Given the description of an element on the screen output the (x, y) to click on. 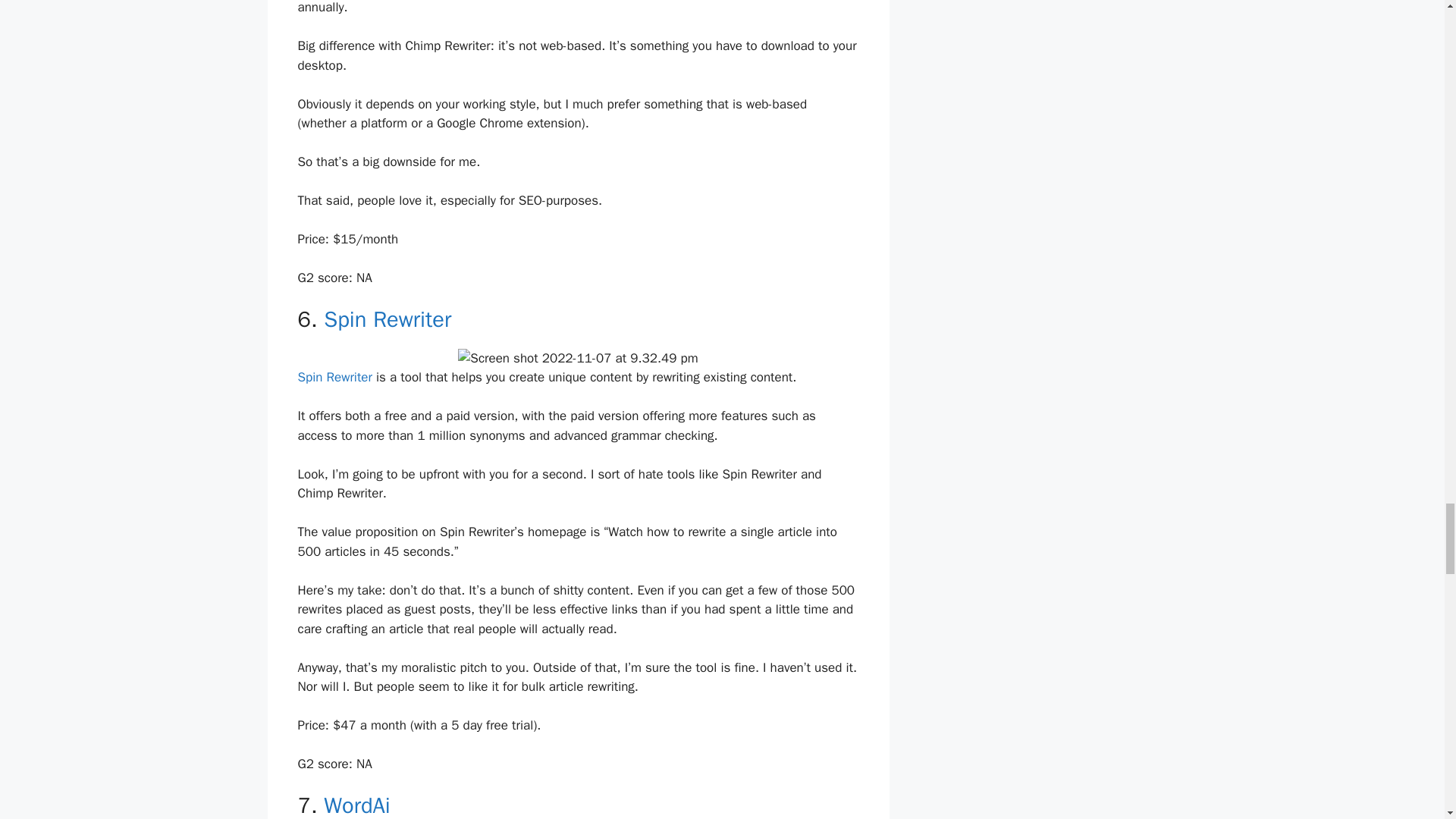
Spin Rewriter (387, 319)
WordAi (356, 805)
Spin Rewriter (334, 376)
